Given the description of an element on the screen output the (x, y) to click on. 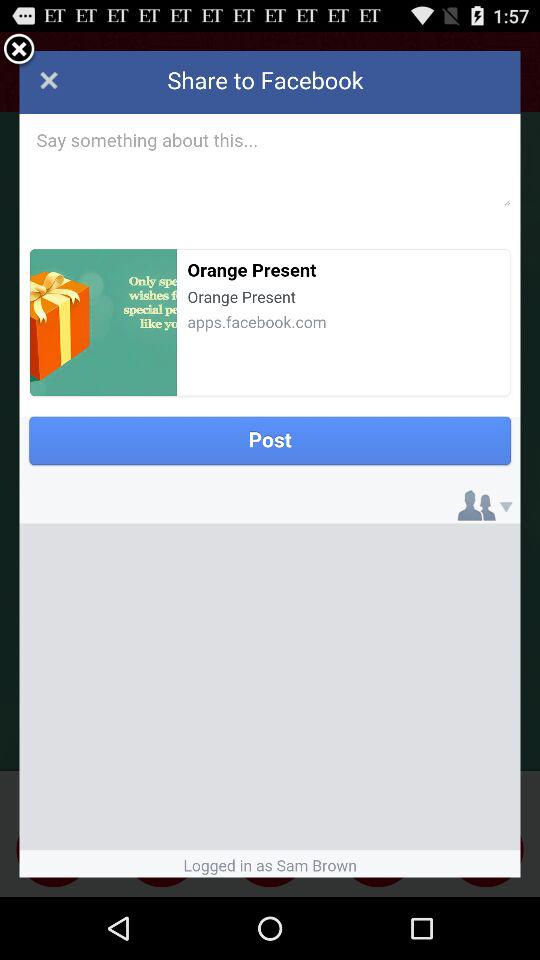
close view (19, 50)
